Given the description of an element on the screen output the (x, y) to click on. 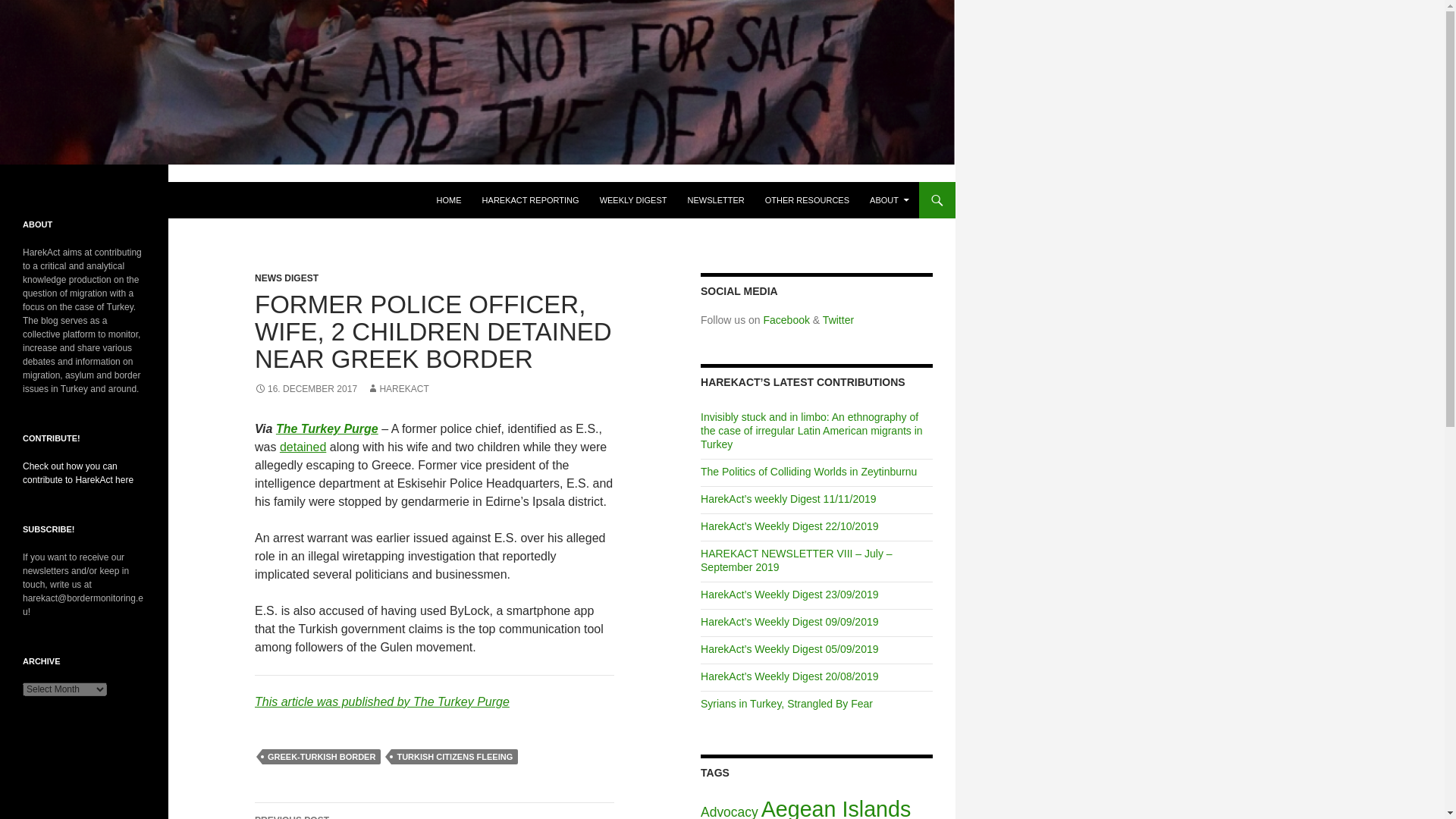
OTHER RESOURCES (807, 199)
TURKISH CITIZENS FLEEING (454, 756)
GREEK-TURKISH BORDER (321, 756)
Advocacy (729, 811)
NEWS DIGEST (286, 277)
Twitter (837, 319)
The Politics of Colliding Worlds in Zeytinburnu (808, 471)
NEWSLETTER (716, 199)
Facebook (785, 319)
HAREKACT (397, 388)
HarekAct (52, 199)
The Turkey Purge (327, 428)
